Given the description of an element on the screen output the (x, y) to click on. 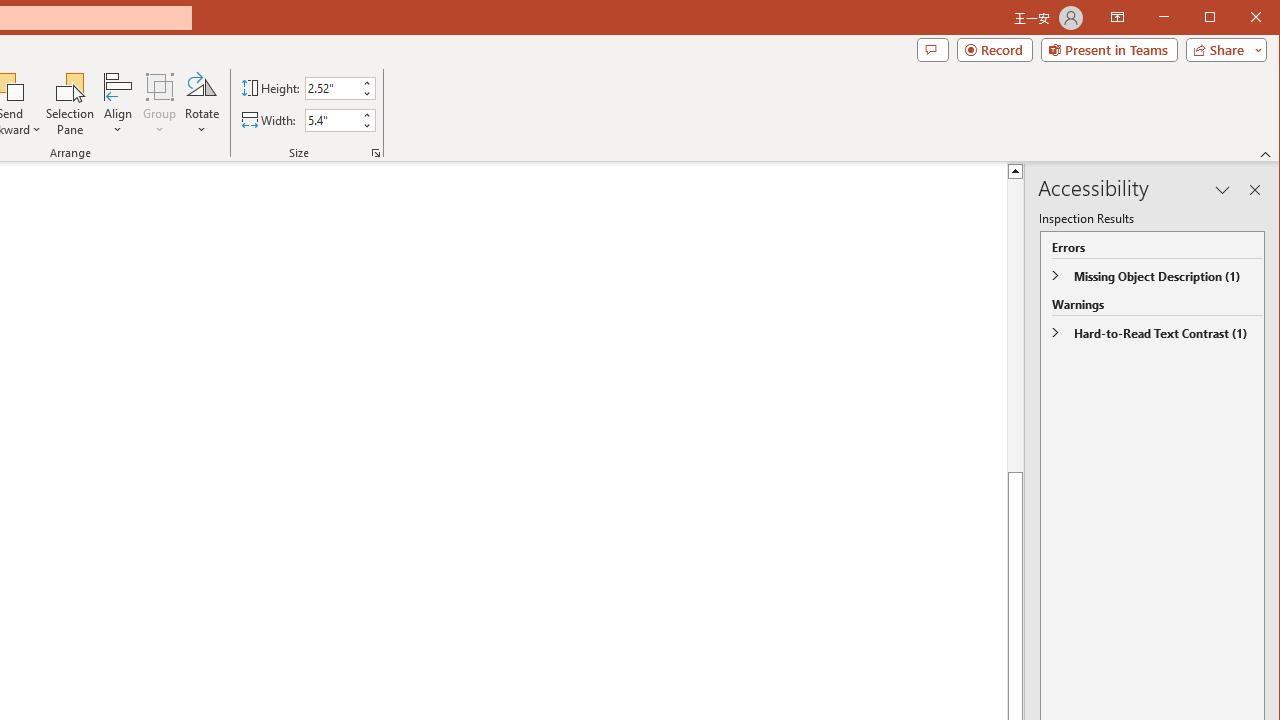
Rotate (201, 104)
Align (118, 104)
Group (159, 104)
